Given the description of an element on the screen output the (x, y) to click on. 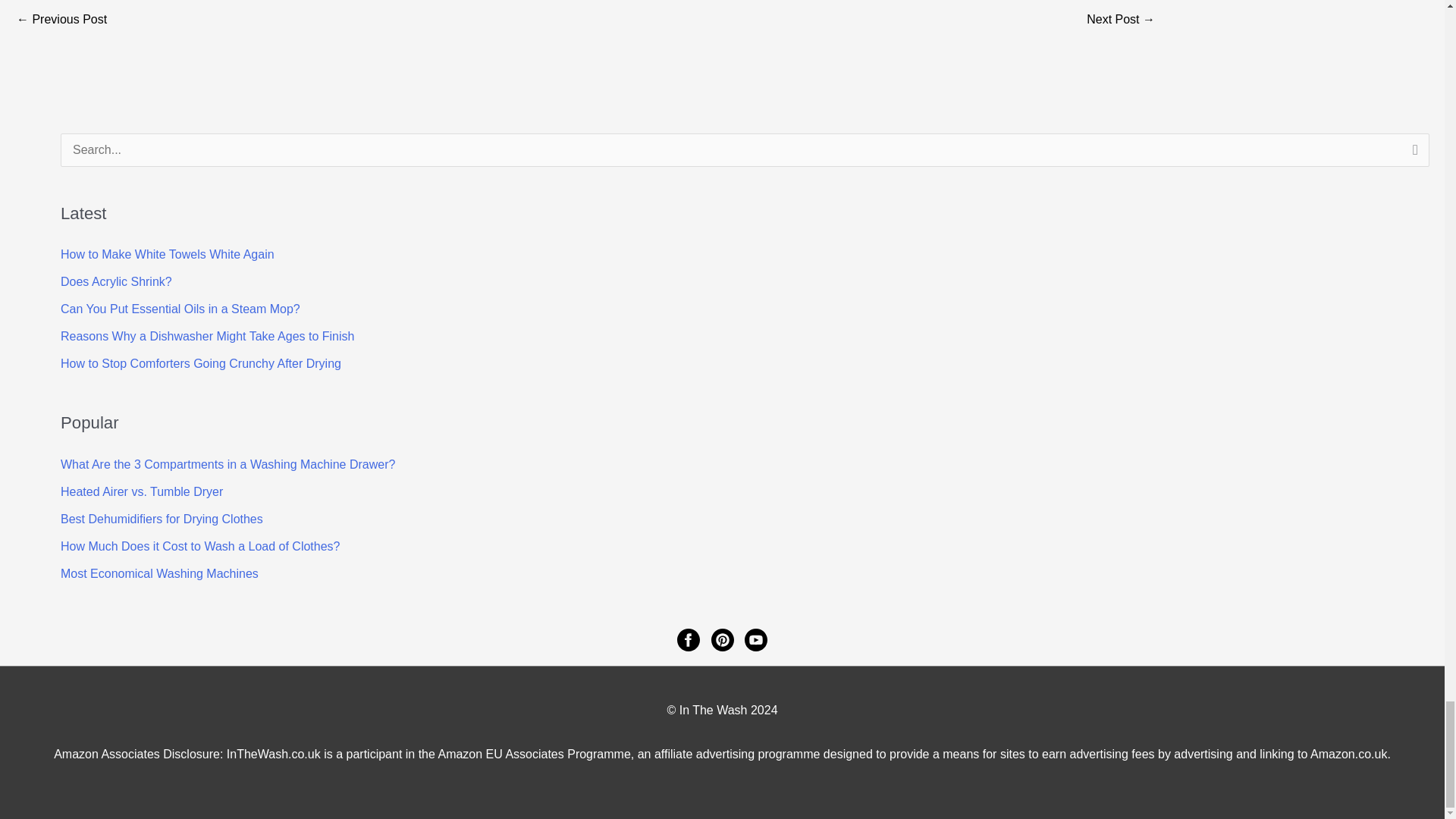
Search (1411, 154)
What Are Soda Crystals? (1120, 20)
Search (1411, 154)
How to Unblock a Dishwasher (61, 20)
